Given the description of an element on the screen output the (x, y) to click on. 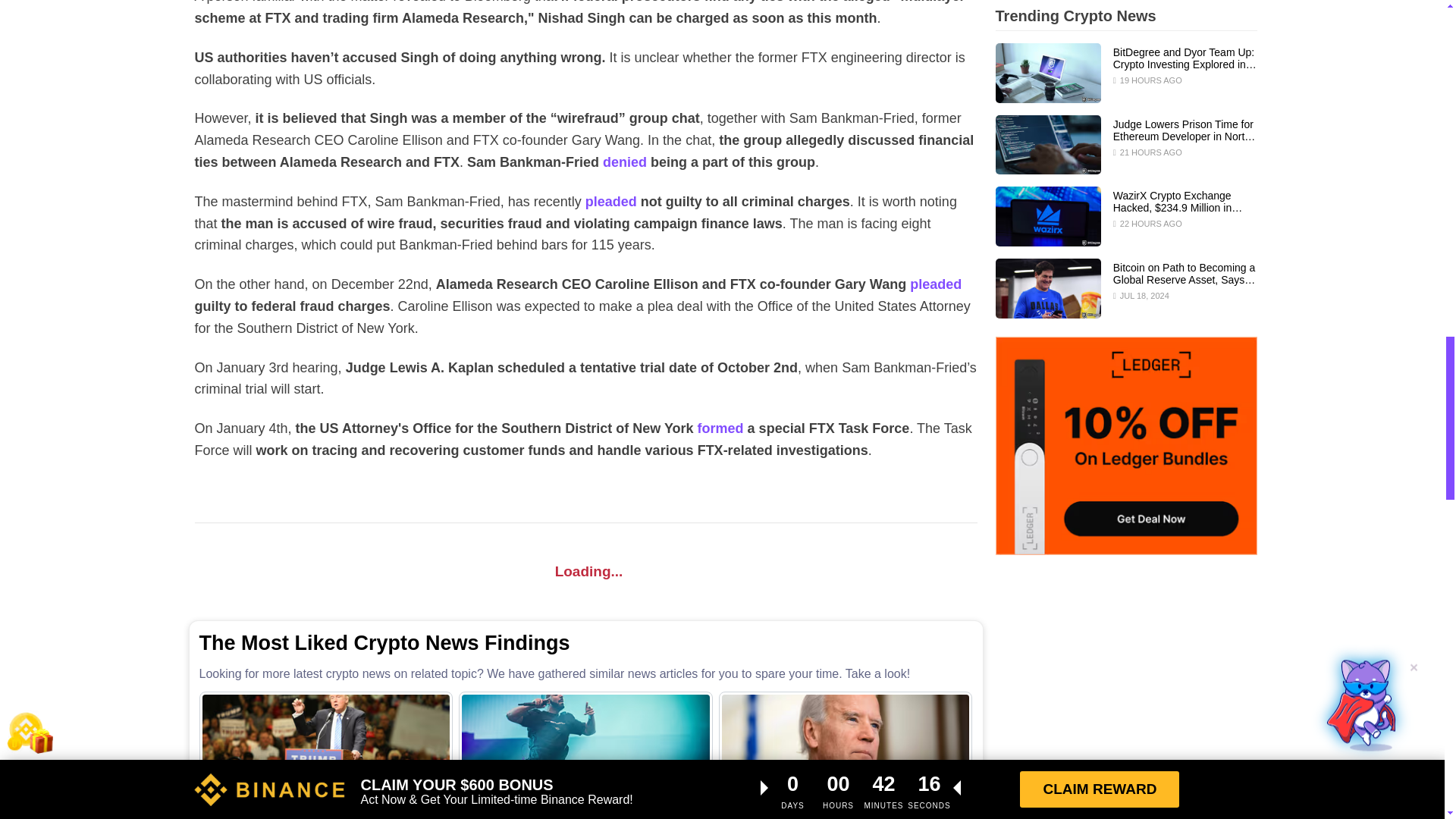
pleaded (611, 201)
Loading... (585, 571)
formed (720, 427)
pleaded (935, 283)
denied (624, 161)
